Given the description of an element on the screen output the (x, y) to click on. 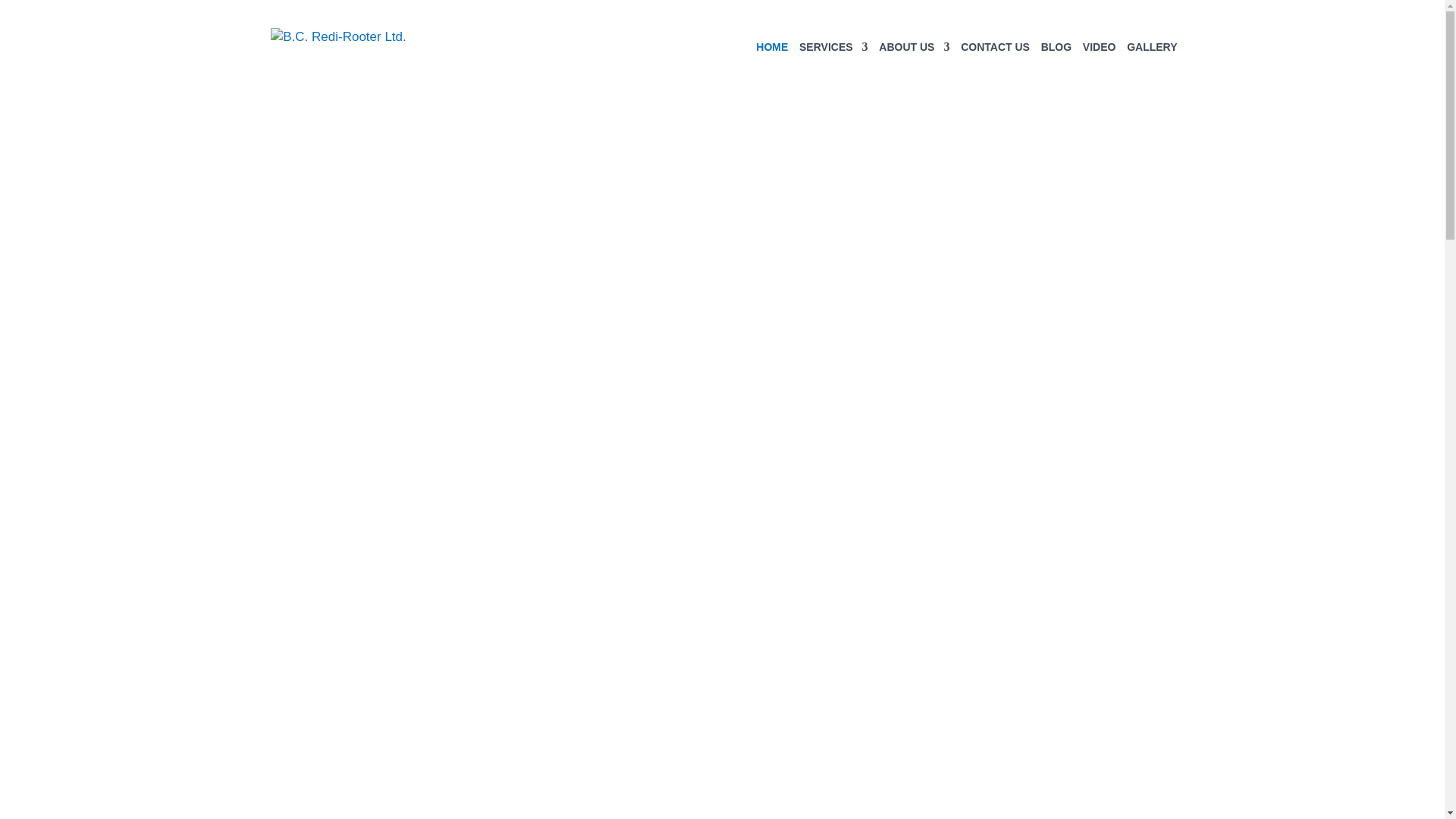
ABOUT US Element type: text (913, 67)
GALLERY Element type: text (1151, 67)
BLOG Element type: text (1056, 67)
VIDEO Element type: text (1099, 67)
CONTACT US Element type: text (994, 67)
HOME Element type: text (771, 67)
SERVICES Element type: text (833, 67)
